Given the description of an element on the screen output the (x, y) to click on. 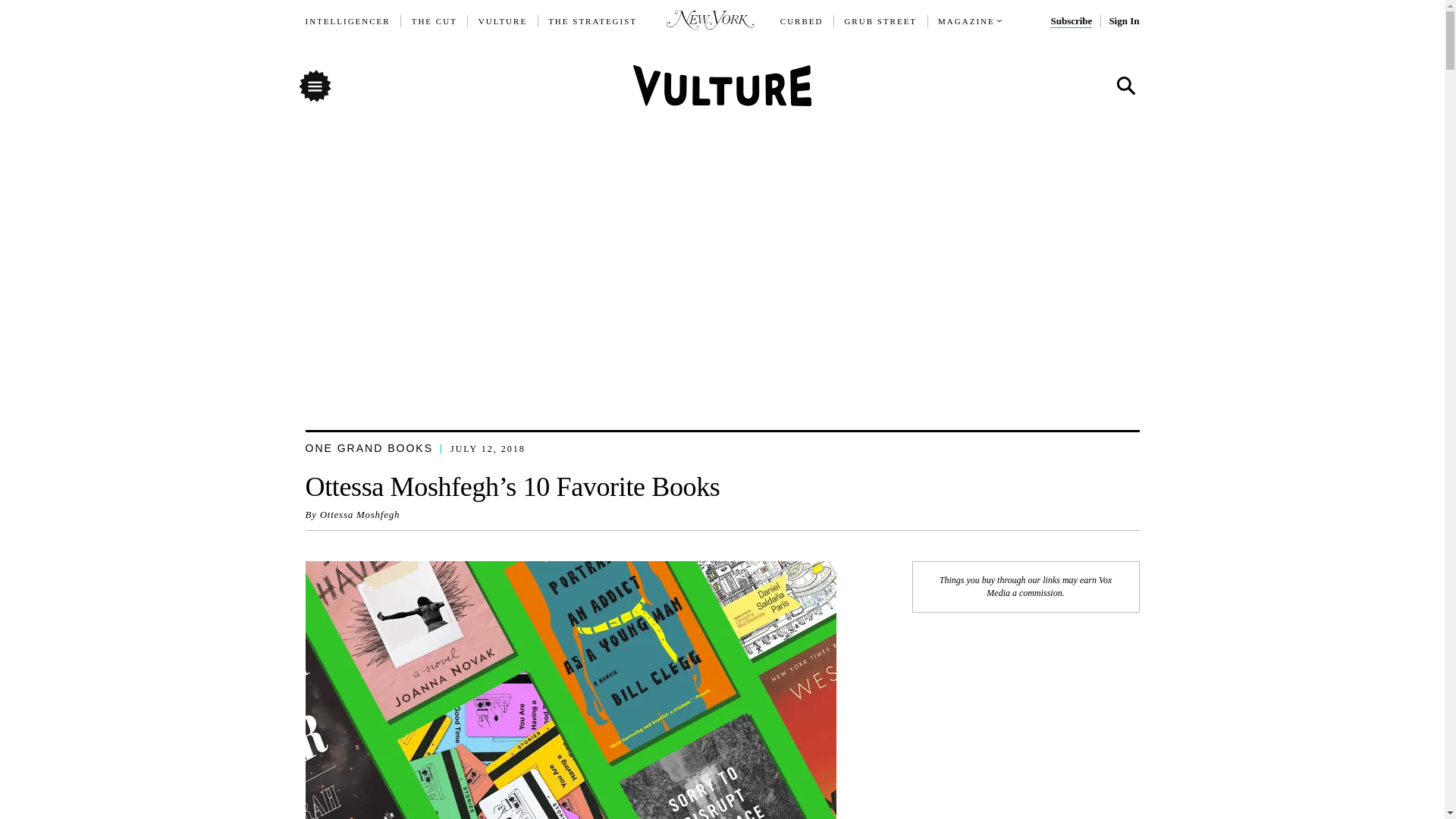
Menu (314, 84)
THE STRATEGIST (592, 21)
GRUB STREET (880, 21)
MAGAZINE (965, 21)
Subscribe (1070, 21)
Search (1124, 86)
Sign In (1123, 21)
THE CUT (434, 21)
INTELLIGENCER (347, 21)
VULTURE (503, 21)
